Given the description of an element on the screen output the (x, y) to click on. 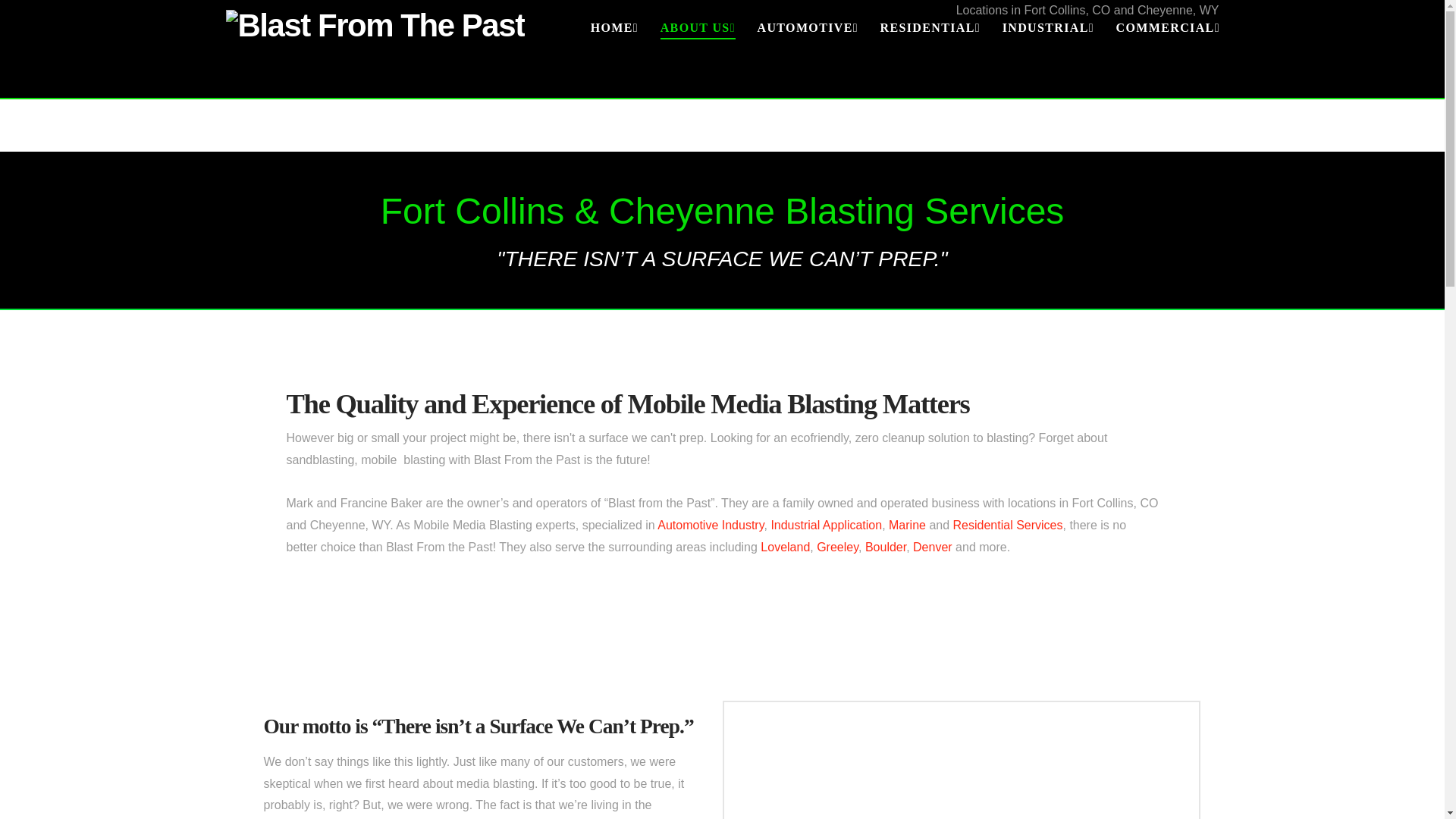
Industrial Application (826, 524)
INDUSTRIAL (1048, 56)
Greeley (837, 546)
Denver (932, 546)
Loveland (784, 546)
COMMERCIAL (1162, 56)
Boulder (884, 546)
RESIDENTIAL (930, 56)
AUTOMOTIVE (807, 56)
ABOUT US (697, 56)
Residential Services (1007, 524)
Automotive Industry (710, 524)
HOME (614, 56)
YouTube video player (960, 766)
Marine (907, 524)
